Given the description of an element on the screen output the (x, y) to click on. 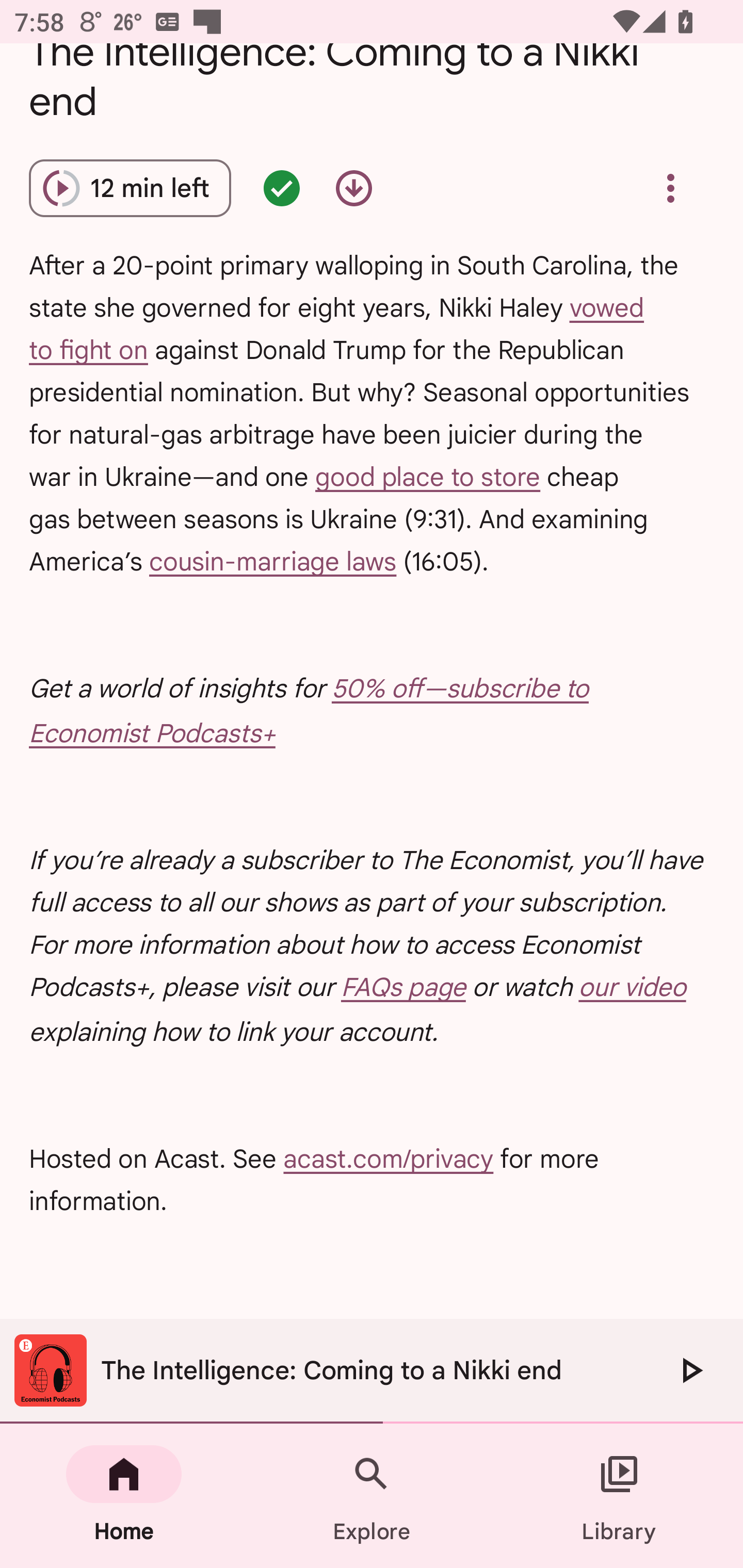
Episode queued - double tap for options (281, 188)
Download episode (354, 188)
Overflow menu (670, 188)
Play (690, 1370)
Explore (371, 1495)
Library (619, 1495)
